Given the description of an element on the screen output the (x, y) to click on. 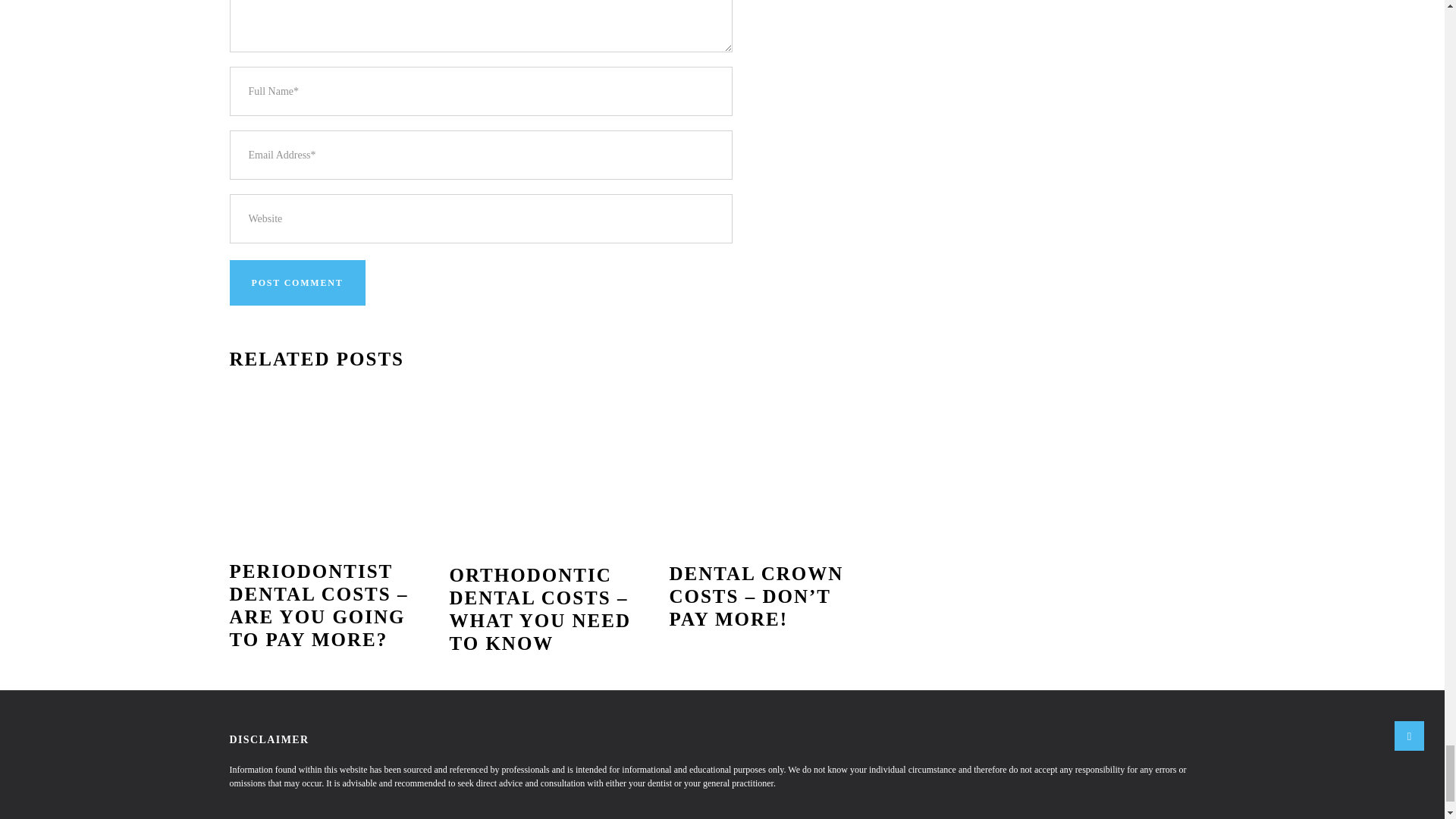
POST COMMENT (296, 282)
